Given the description of an element on the screen output the (x, y) to click on. 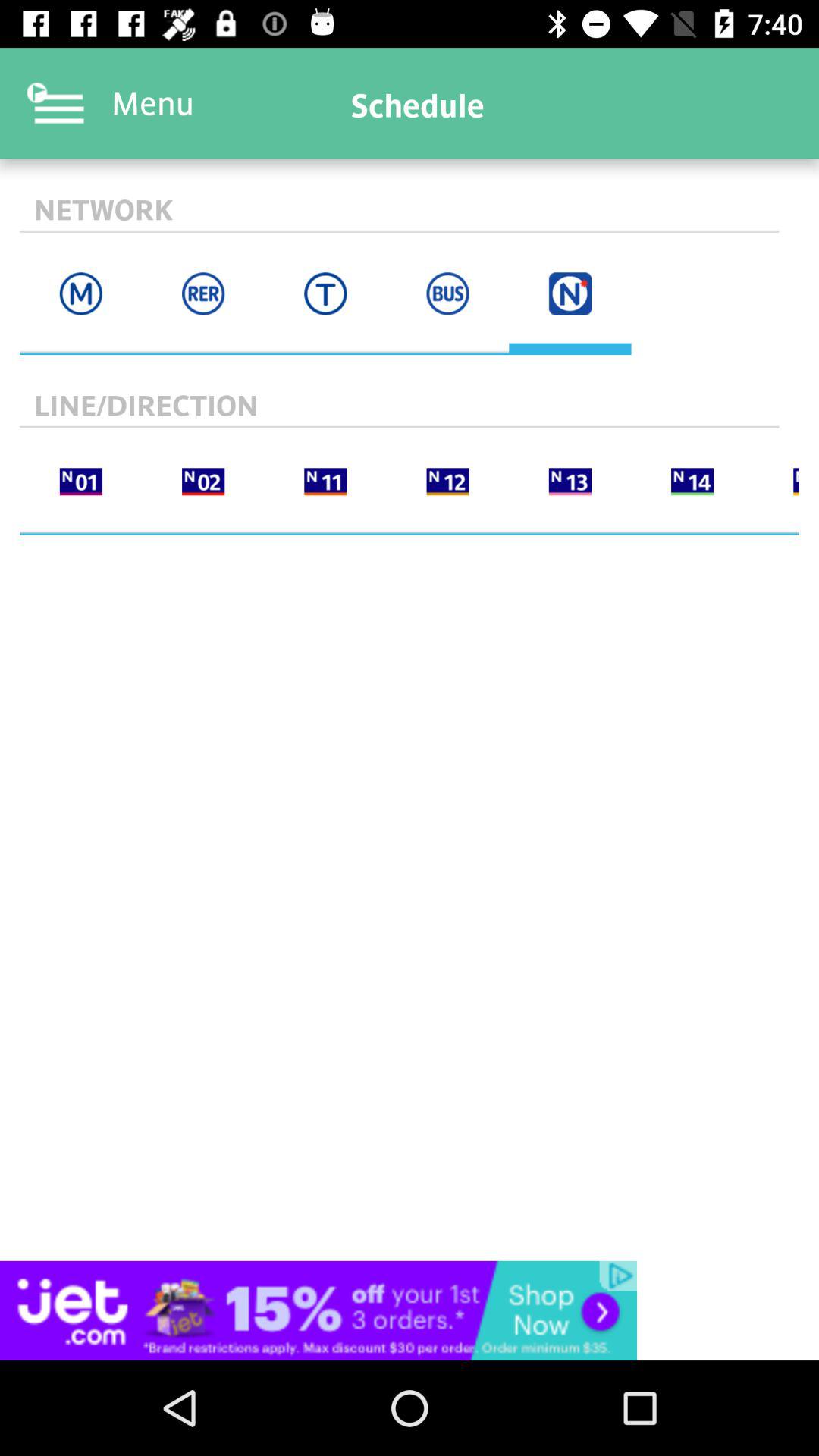
interact with advertisement (409, 1310)
